Given the description of an element on the screen output the (x, y) to click on. 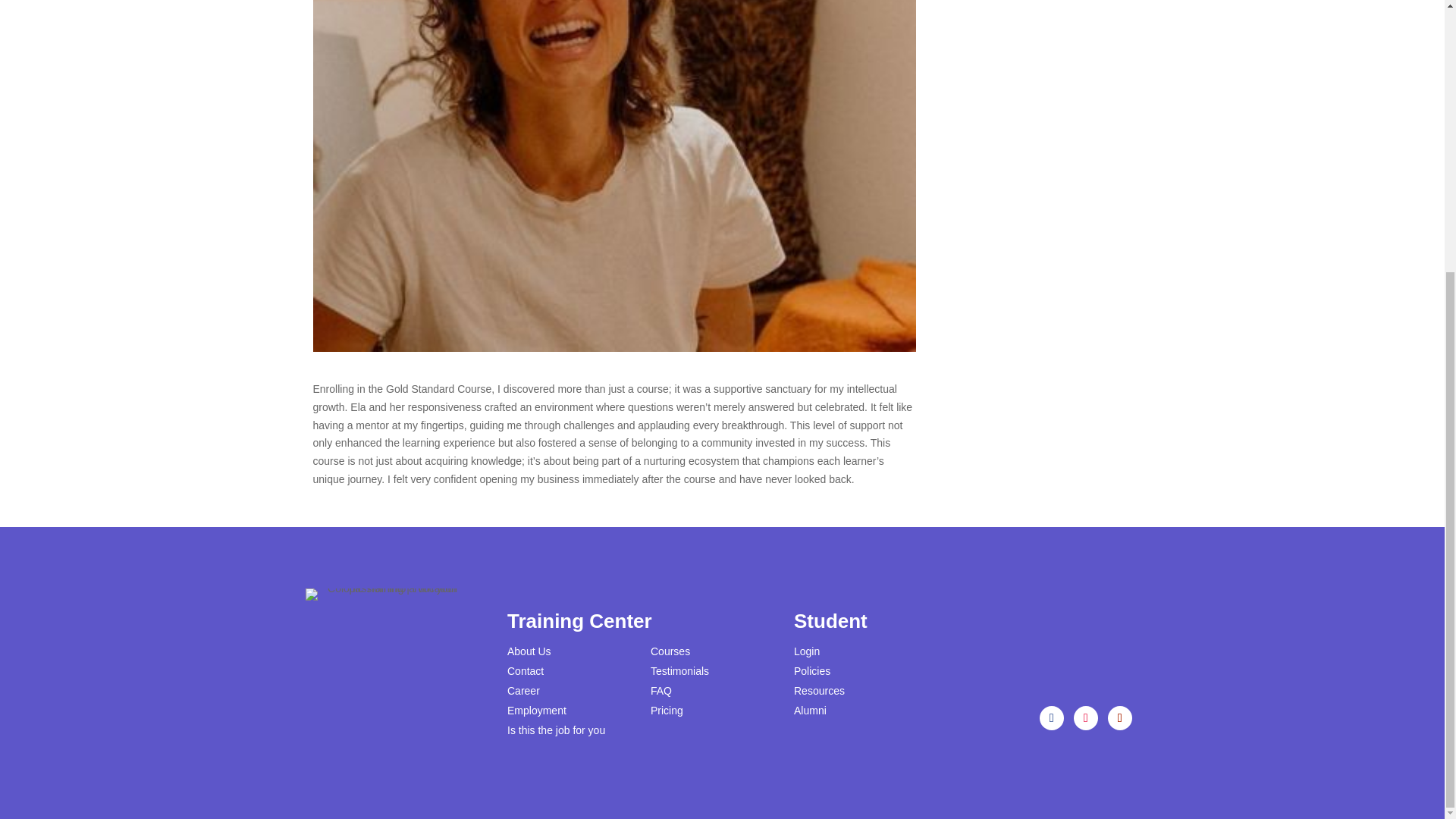
CTLogo-white-trans-1500x1500 (381, 594)
Resources (818, 690)
Pricing (666, 710)
Alumni (810, 710)
About Us (528, 651)
Testimonials (679, 671)
Follow on Youtube (1120, 717)
Follow on Facebook (1051, 717)
Courses (670, 651)
Employment (536, 710)
